Given the description of an element on the screen output the (x, y) to click on. 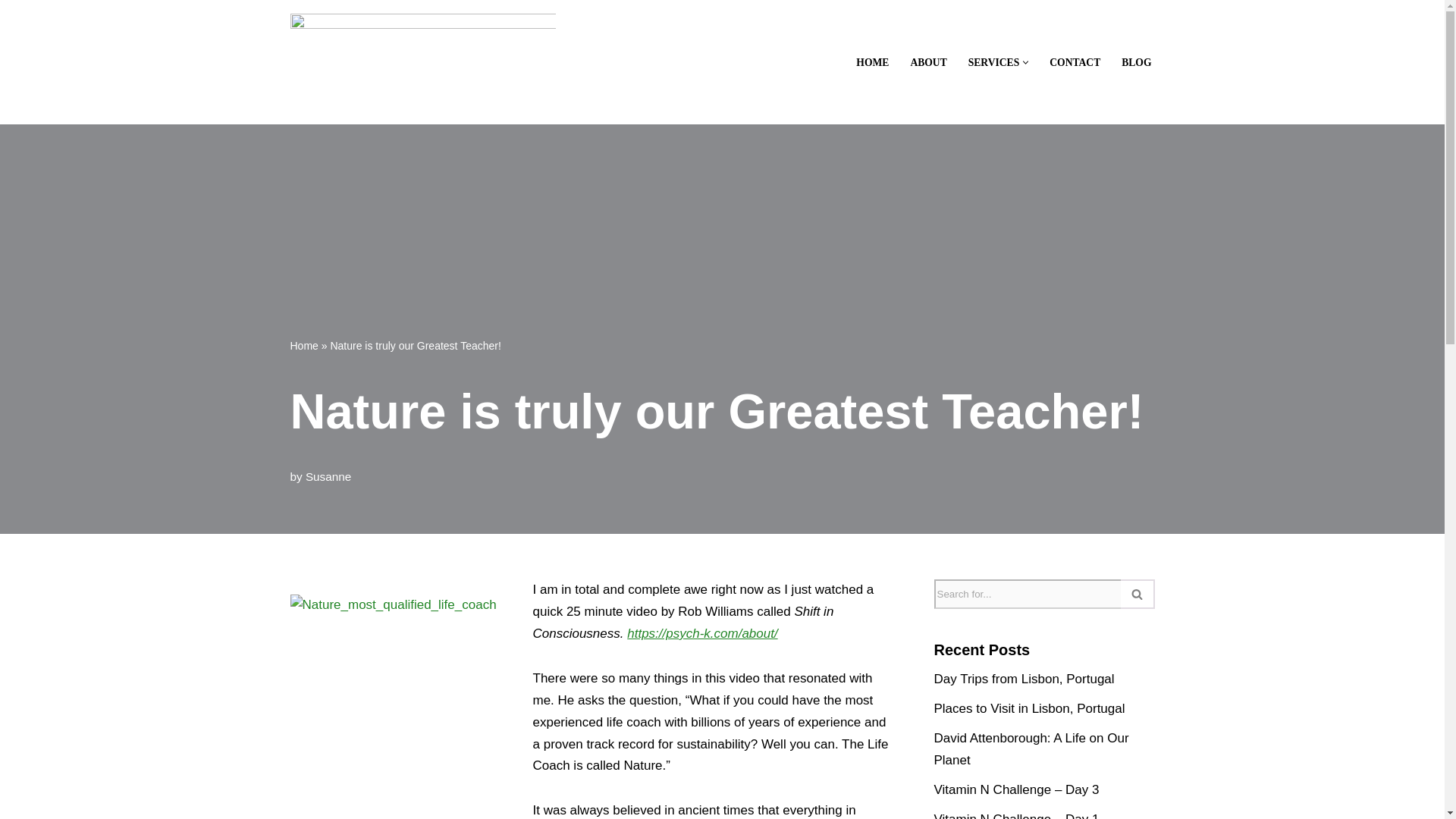
ABOUT (928, 62)
CONTACT (1074, 62)
Skip to content (11, 31)
Places to Visit in Lisbon, Portugal (1029, 708)
Posts by Susanne (327, 476)
BLOG (1136, 62)
Day Trips from Lisbon, Portugal (1024, 678)
Susanne (327, 476)
SERVICES (994, 62)
HOME (872, 62)
David Attenborough: A Life on Our Planet (1031, 749)
Home (303, 345)
